Given the description of an element on the screen output the (x, y) to click on. 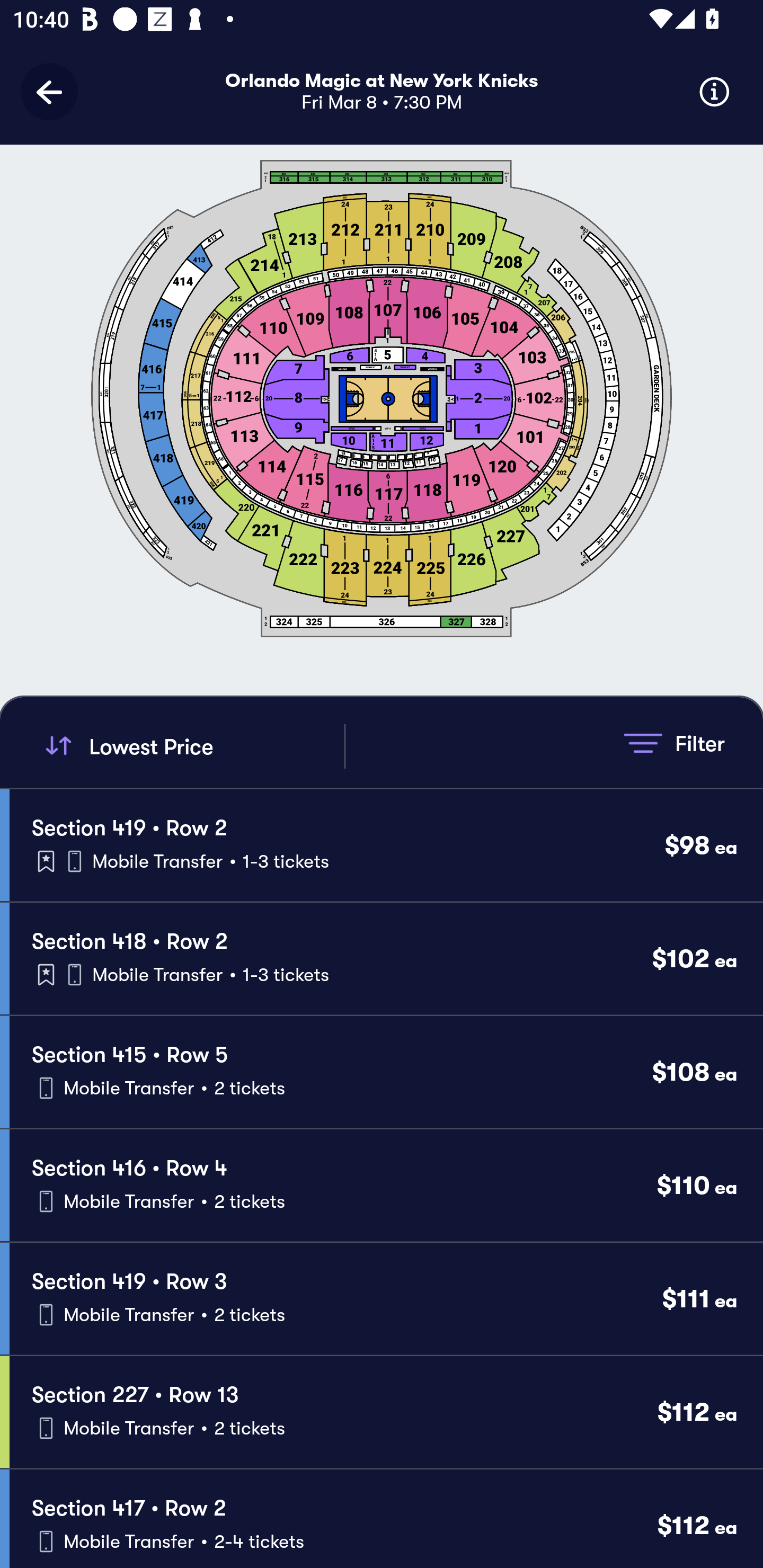
Lowest Price (191, 746)
Filter (674, 743)
